Given the description of an element on the screen output the (x, y) to click on. 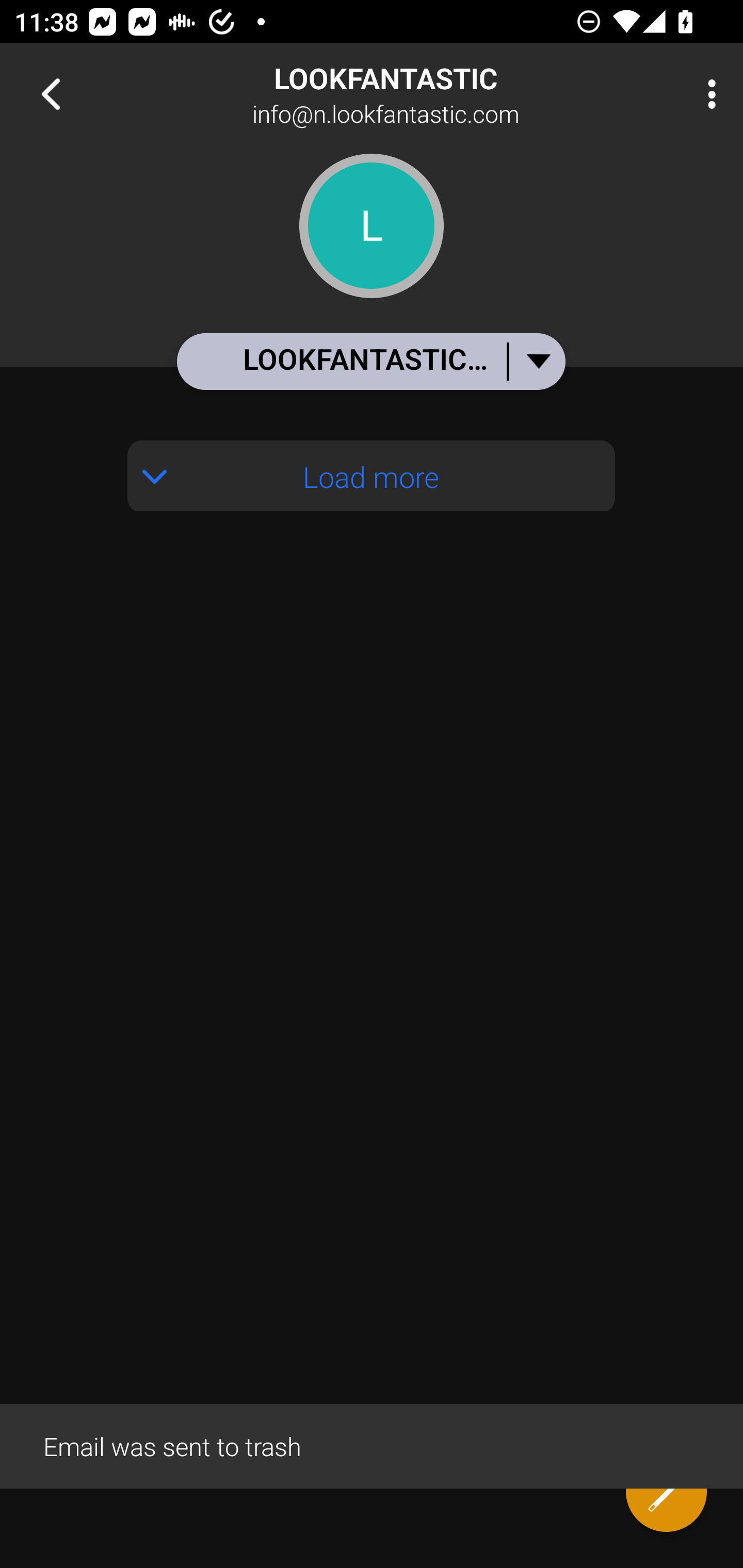
Navigate up (50, 93)
LOOKFANTASTIC info@n.lookfantastic.com (436, 93)
More Options (706, 93)
LOOKFANTASTIC & You (370, 361)
Load more (371, 475)
Email was sent to trash (371, 1445)
